Given the description of an element on the screen output the (x, y) to click on. 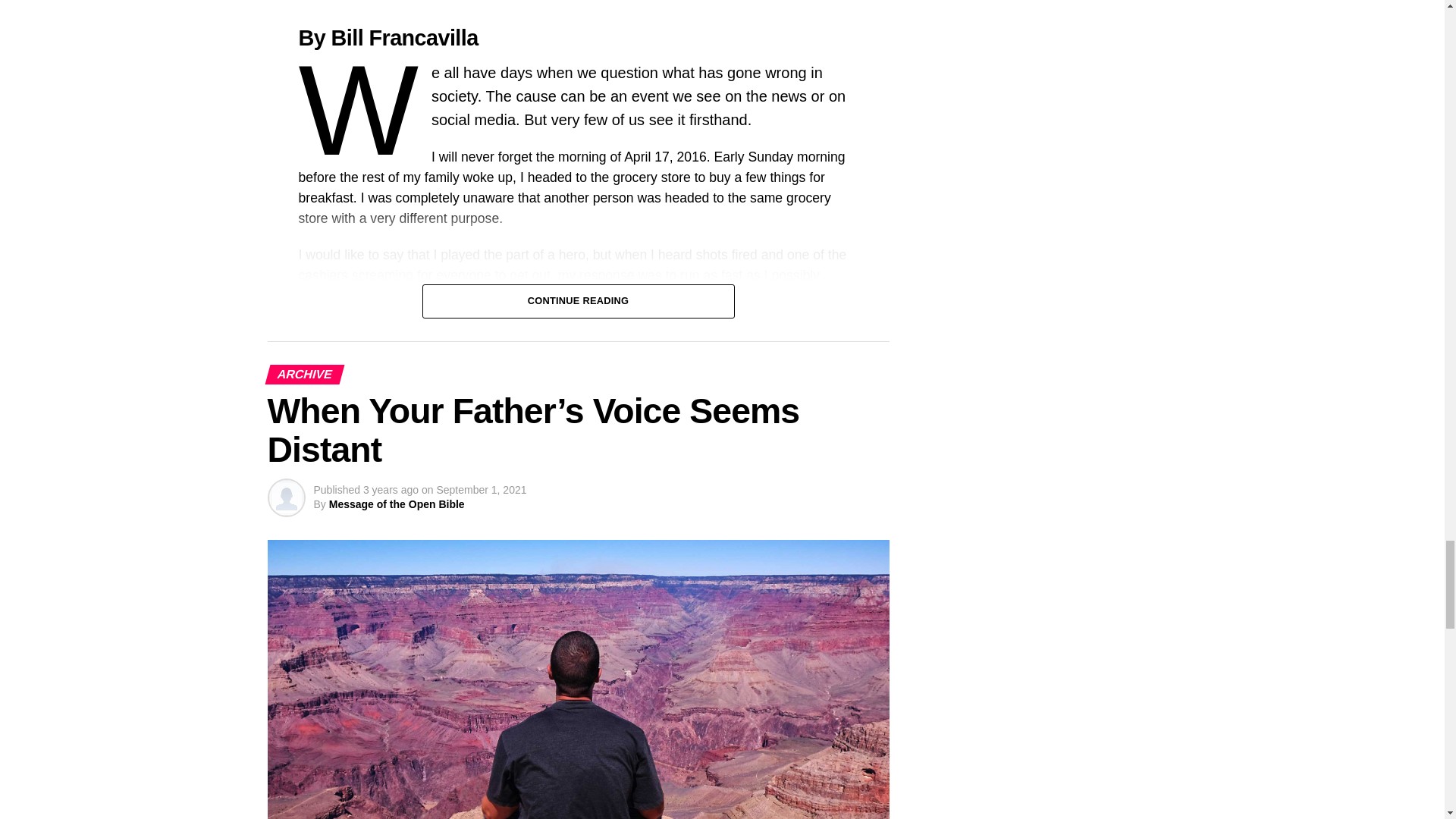
Posts by Message of the Open Bible (396, 503)
